Given the description of an element on the screen output the (x, y) to click on. 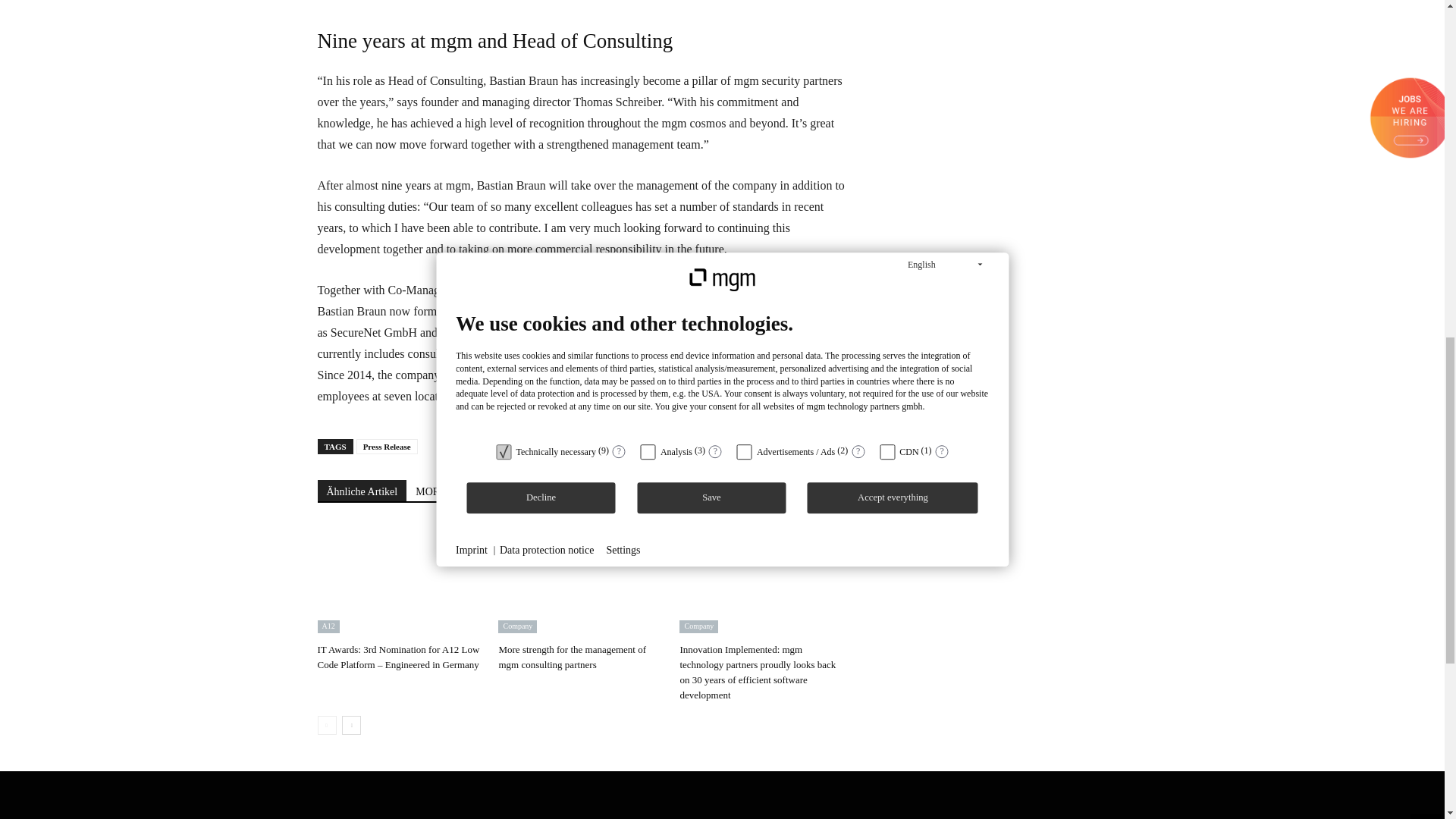
More strength for the management of mgm consulting partners (580, 580)
More strength for the management of mgm consulting partners (571, 656)
